Given the description of an element on the screen output the (x, y) to click on. 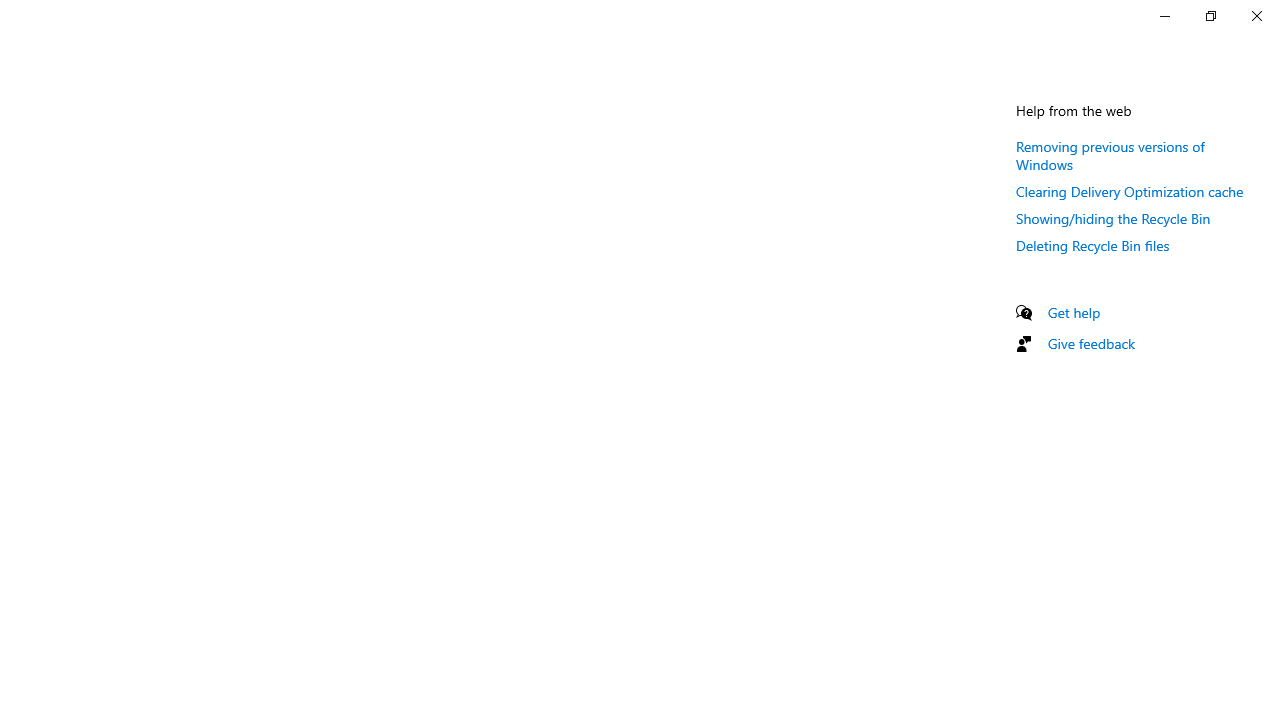
Restore Settings (1210, 15)
Showing/hiding the Recycle Bin (1113, 218)
Deleting Recycle Bin files (1092, 245)
Give feedback (1091, 343)
Close Settings (1256, 15)
Minimize Settings (1164, 15)
Clearing Delivery Optimization cache (1130, 191)
Removing previous versions of Windows (1110, 155)
Get help (1074, 312)
